Given the description of an element on the screen output the (x, y) to click on. 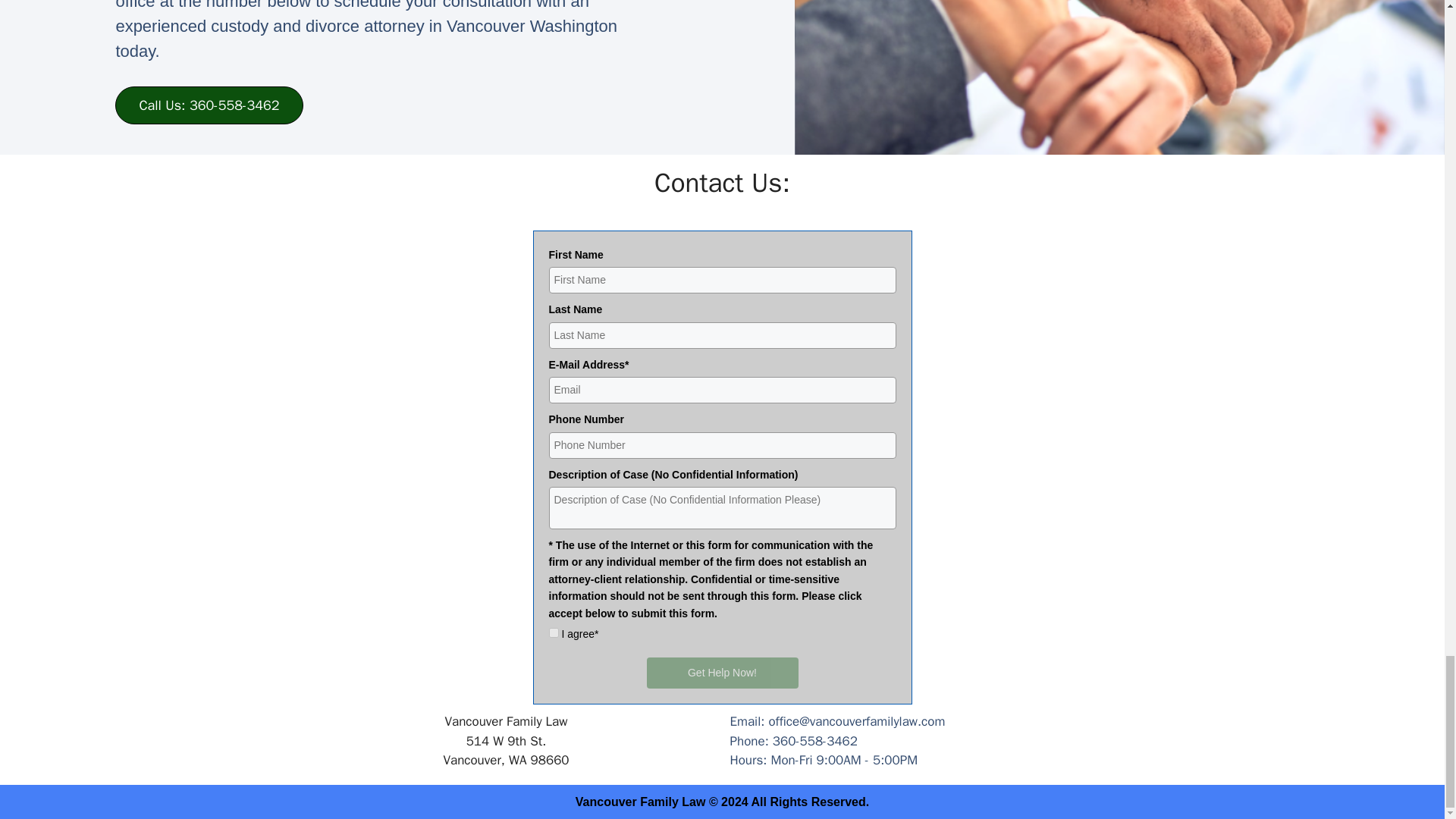
I agree (553, 633)
Get Help Now! (721, 672)
Phone: 360-558-3462 (938, 741)
Call Us: 360-558-3462 (208, 105)
